Given the description of an element on the screen output the (x, y) to click on. 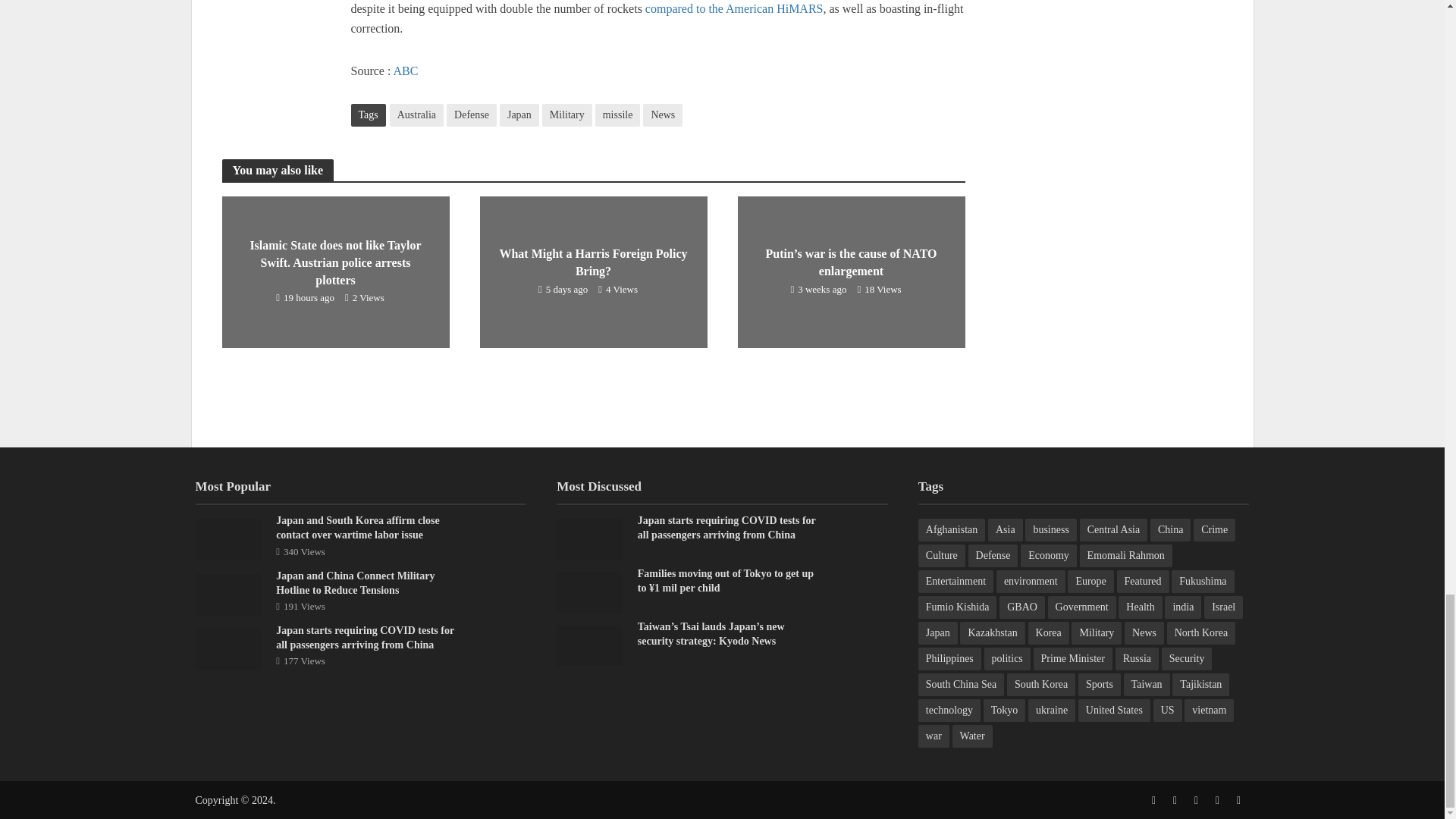
Japan and China Connect Military Hotline to Reduce Tensions (228, 592)
What Might a Harris Foreign Policy Bring? (592, 270)
